Given the description of an element on the screen output the (x, y) to click on. 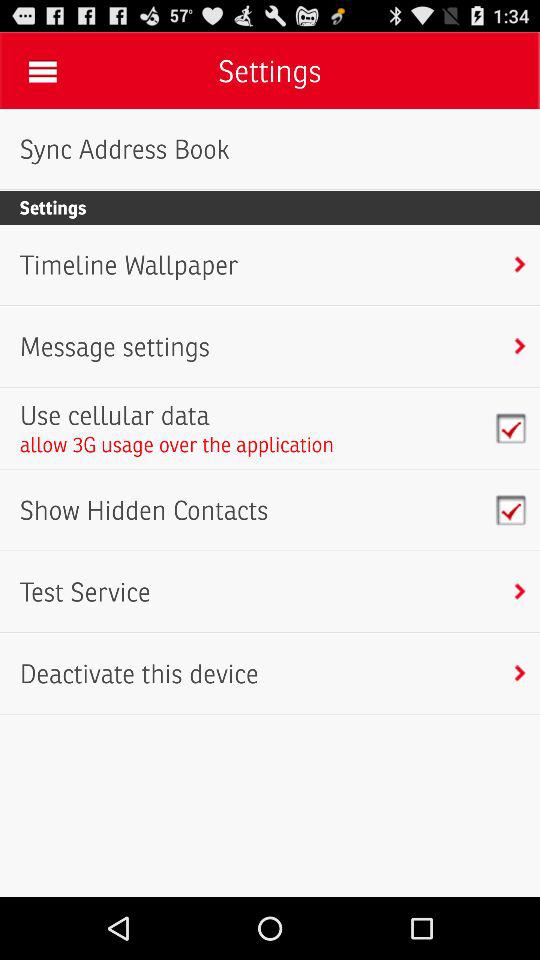
flip to the deactivate this device app (138, 673)
